Given the description of an element on the screen output the (x, y) to click on. 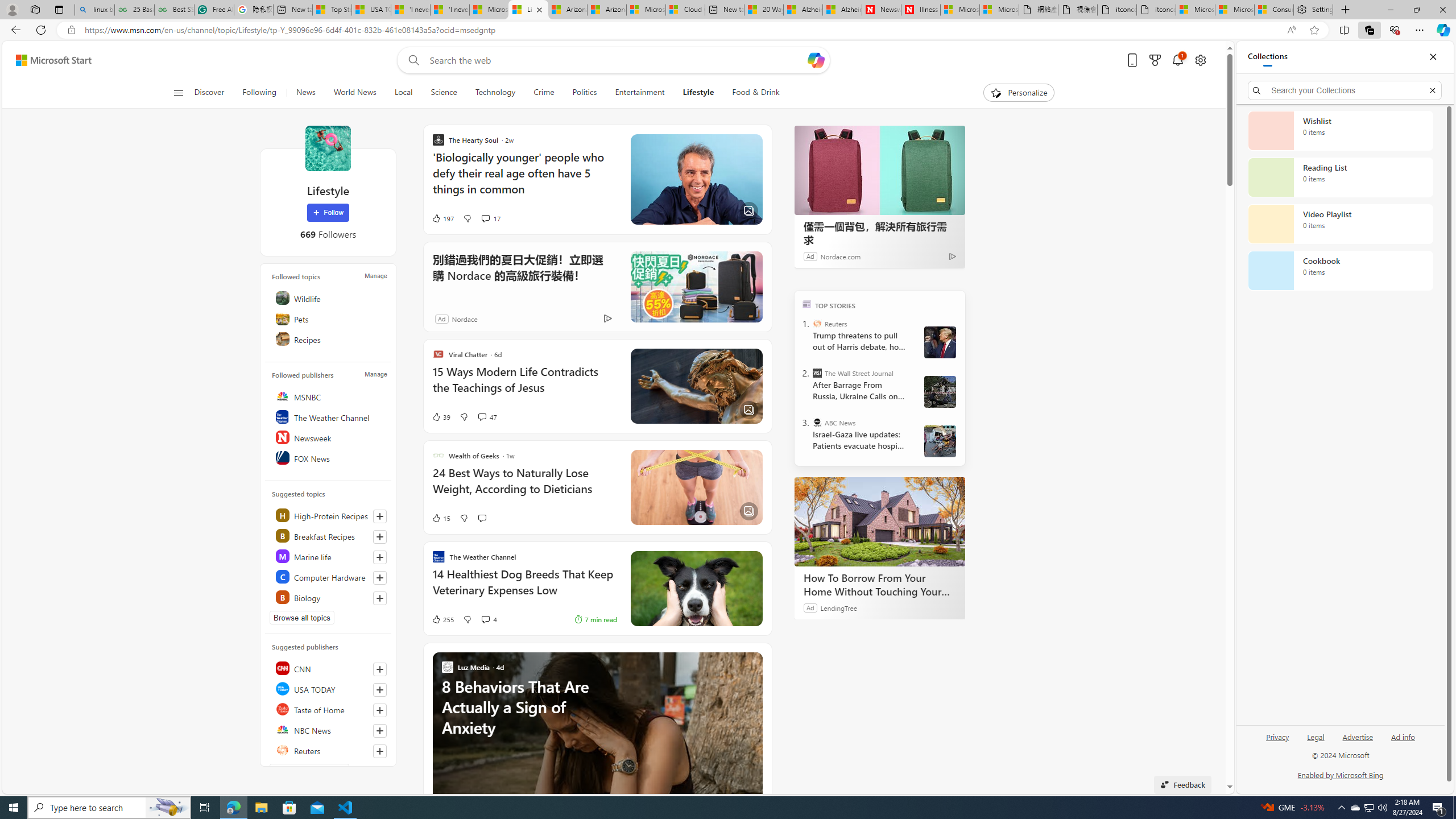
Reuters (328, 750)
Minimize (1390, 9)
Personalize (1019, 92)
Microsoft rewards (1154, 60)
Browse all topics (301, 617)
Discover (208, 92)
Technology (494, 92)
Science (442, 92)
Newsweek - News, Analysis, Politics, Business, Technology (881, 9)
Legal (1315, 741)
Privacy (1278, 736)
